Given the description of an element on the screen output the (x, y) to click on. 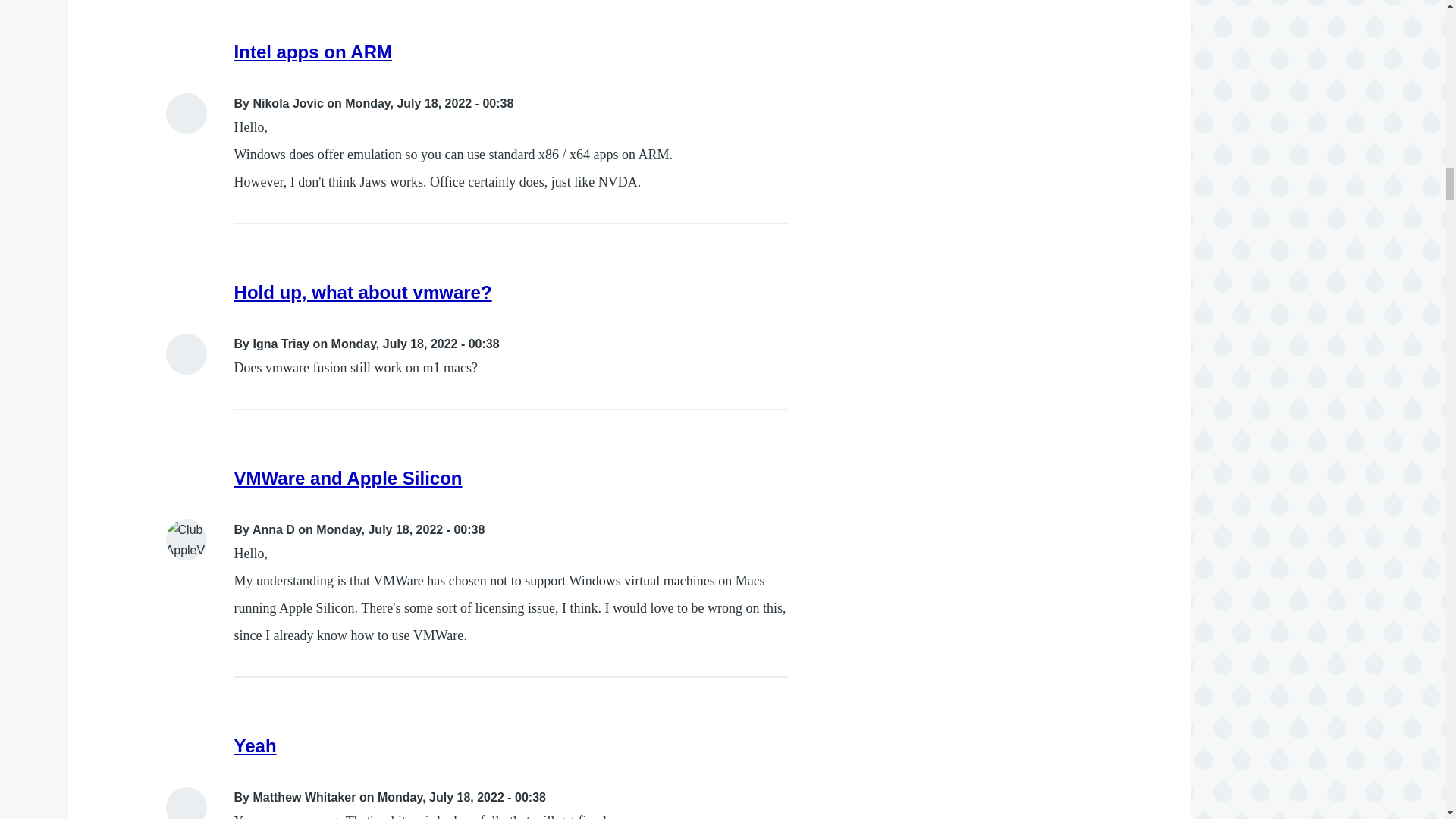
Hold up, what about vmware? (363, 291)
Yeah (255, 745)
VMWare and Apple Silicon (348, 477)
Intel apps on ARM (312, 51)
